Given the description of an element on the screen output the (x, y) to click on. 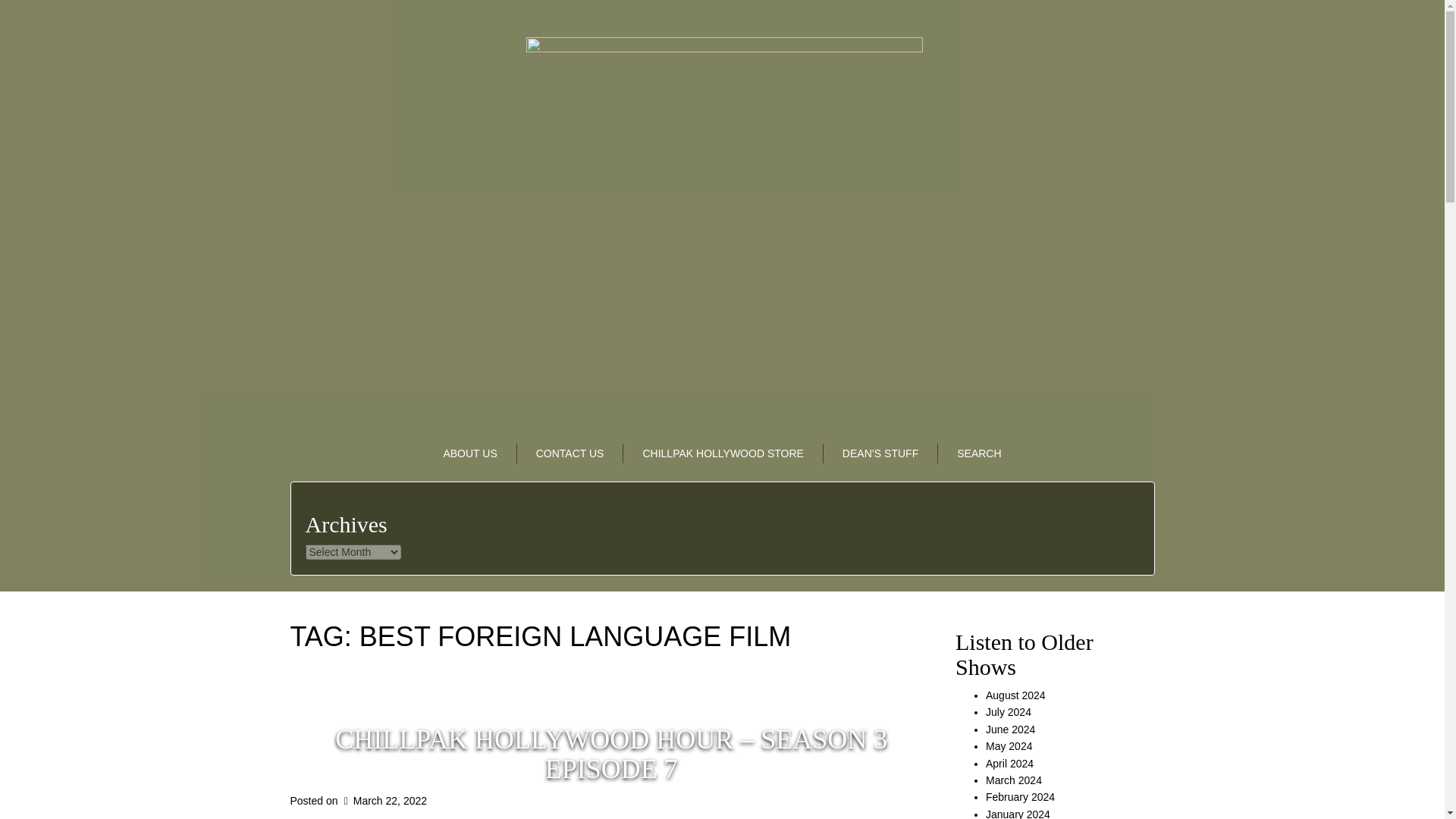
About Us (469, 453)
Dean's Stuff (880, 453)
Contact Us (570, 453)
CONTACT US (570, 453)
ABOUT US (469, 453)
Search (978, 453)
SEARCH (978, 453)
Chillpak Hollywood Store (722, 453)
CHILLPAK HOLLYWOOD STORE (722, 453)
March 22, 2022 (383, 800)
